Given the description of an element on the screen output the (x, y) to click on. 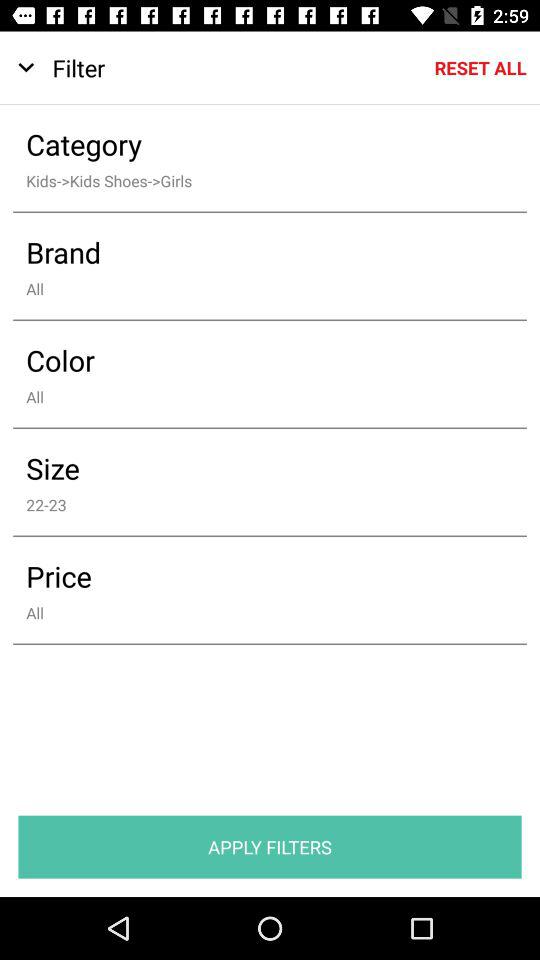
select reset all icon (480, 67)
